Given the description of an element on the screen output the (x, y) to click on. 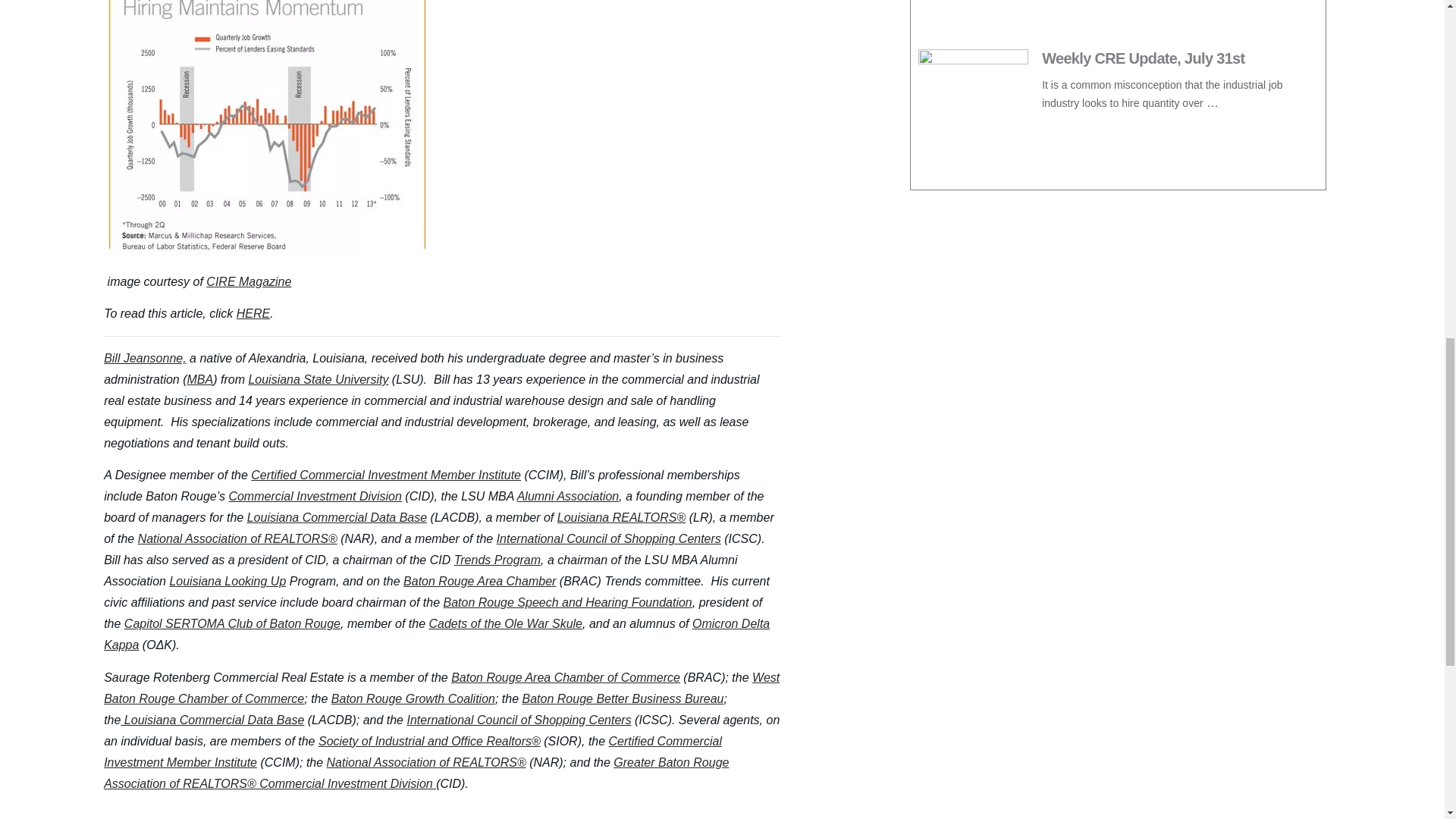
Alumni Association (568, 495)
CIRE Magazine (248, 281)
Commercial Investment Division (314, 495)
Bill Jeansonne, (144, 358)
HERE (252, 313)
MBA (200, 379)
Certified Commercial Investment Member Institute (385, 474)
Louisiana State University (317, 379)
